Given the description of an element on the screen output the (x, y) to click on. 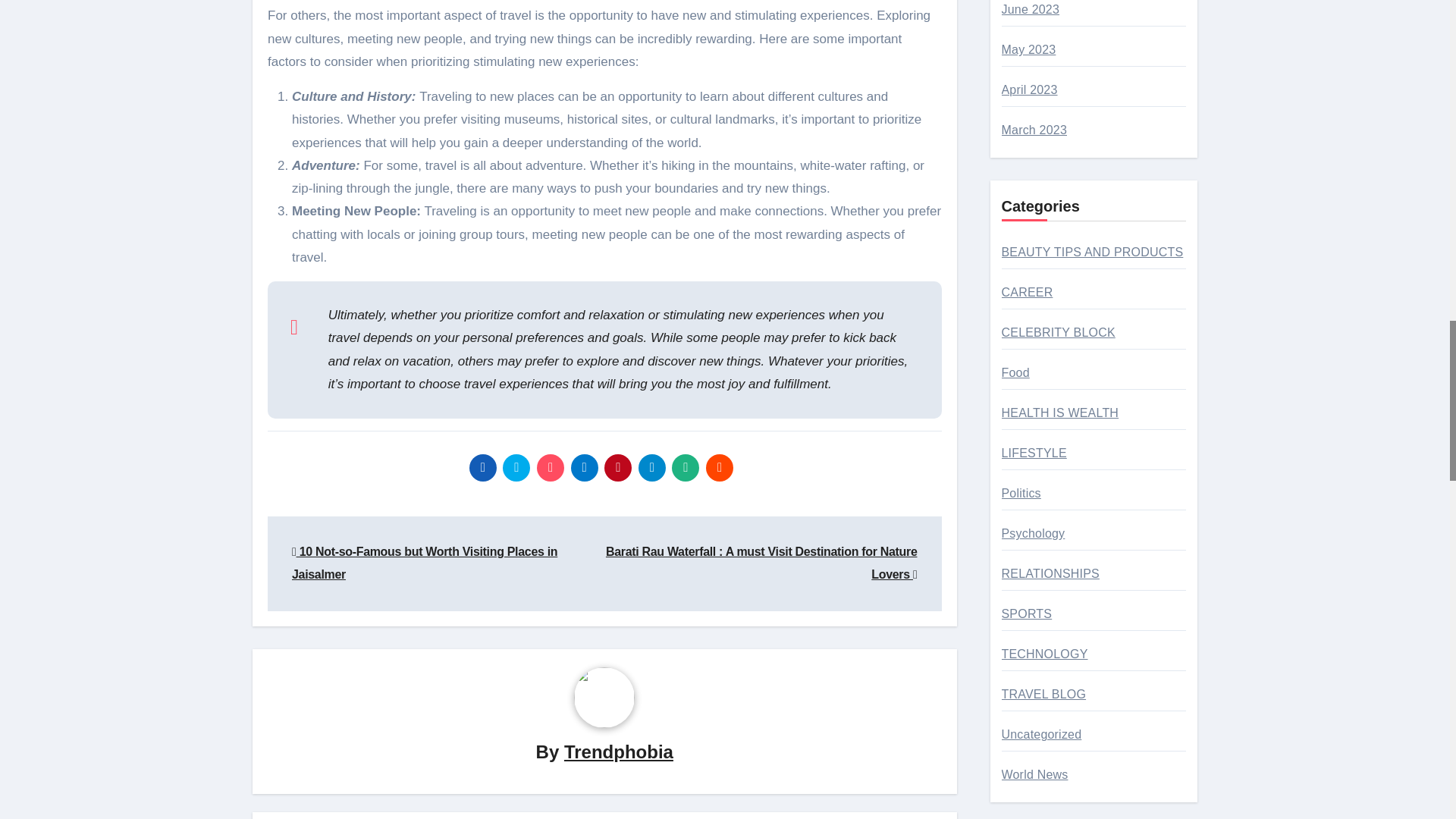
Trendphobia (618, 752)
10 Not-so-Famous but Worth Visiting Places in Jaisalmer (424, 562)
